Given the description of an element on the screen output the (x, y) to click on. 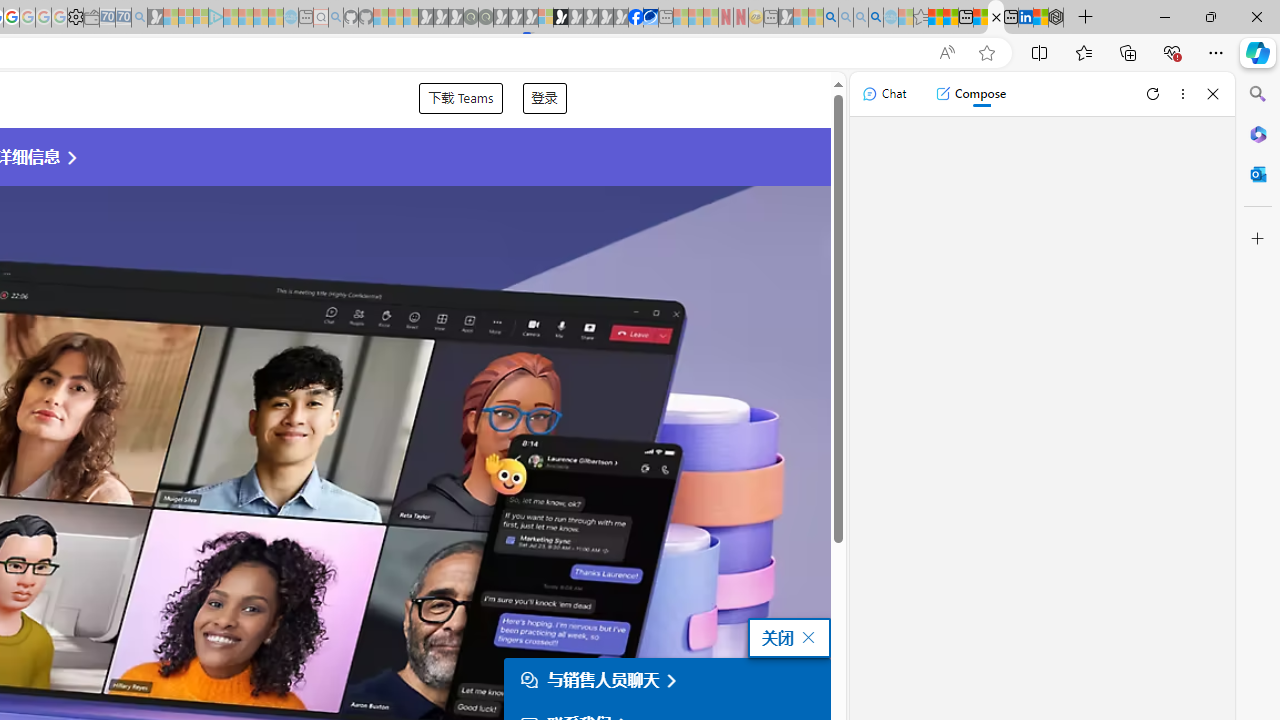
Google Chrome Internet Browser Download - Search Images (876, 17)
AQI & Health | AirNow.gov (650, 17)
Aberdeen, Hong Kong SAR weather forecast | Microsoft Weather (950, 17)
